Given the description of an element on the screen output the (x, y) to click on. 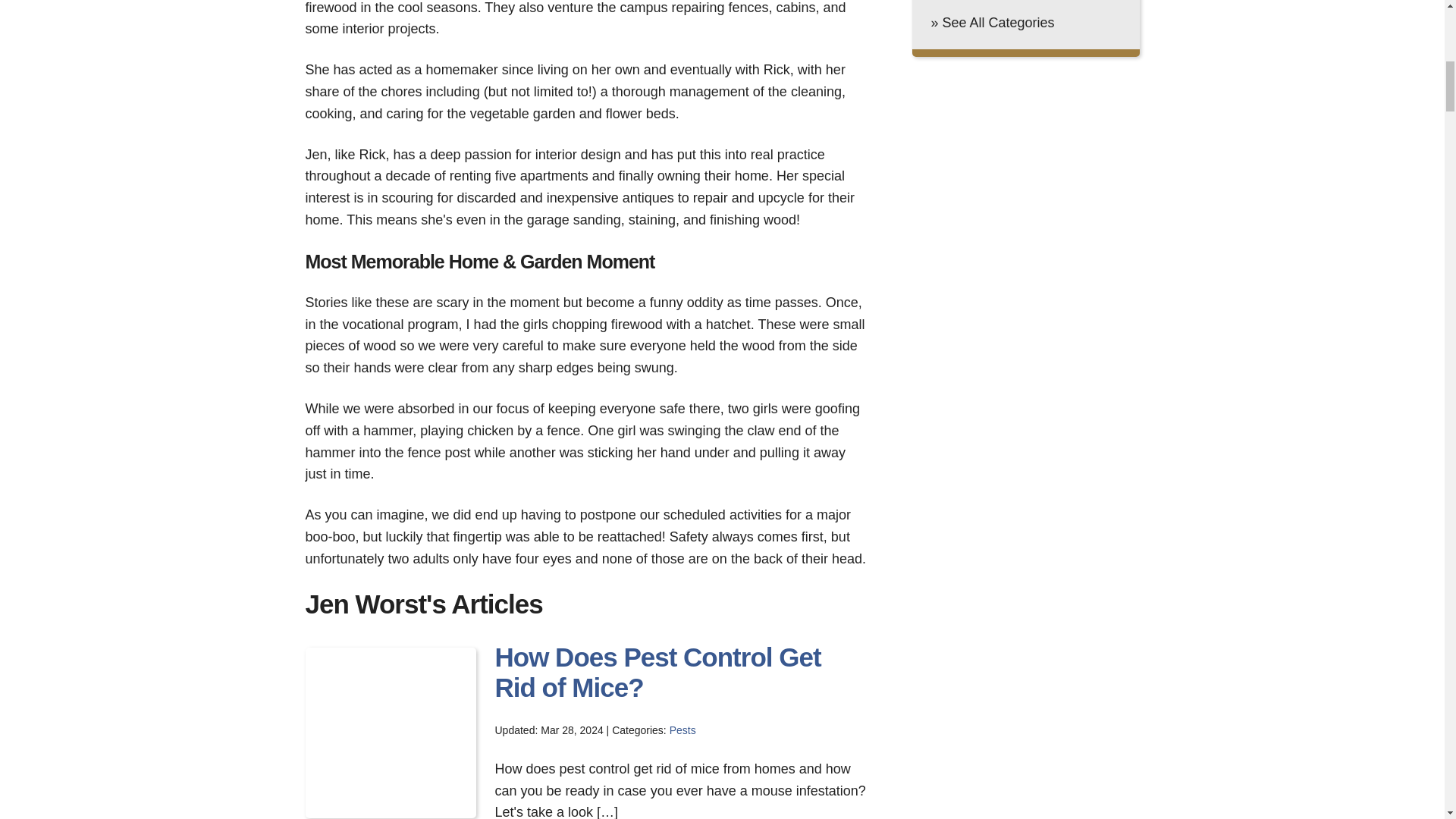
How Does Pest Control Get Rid of Mice? (658, 671)
Pests (682, 729)
